Given the description of an element on the screen output the (x, y) to click on. 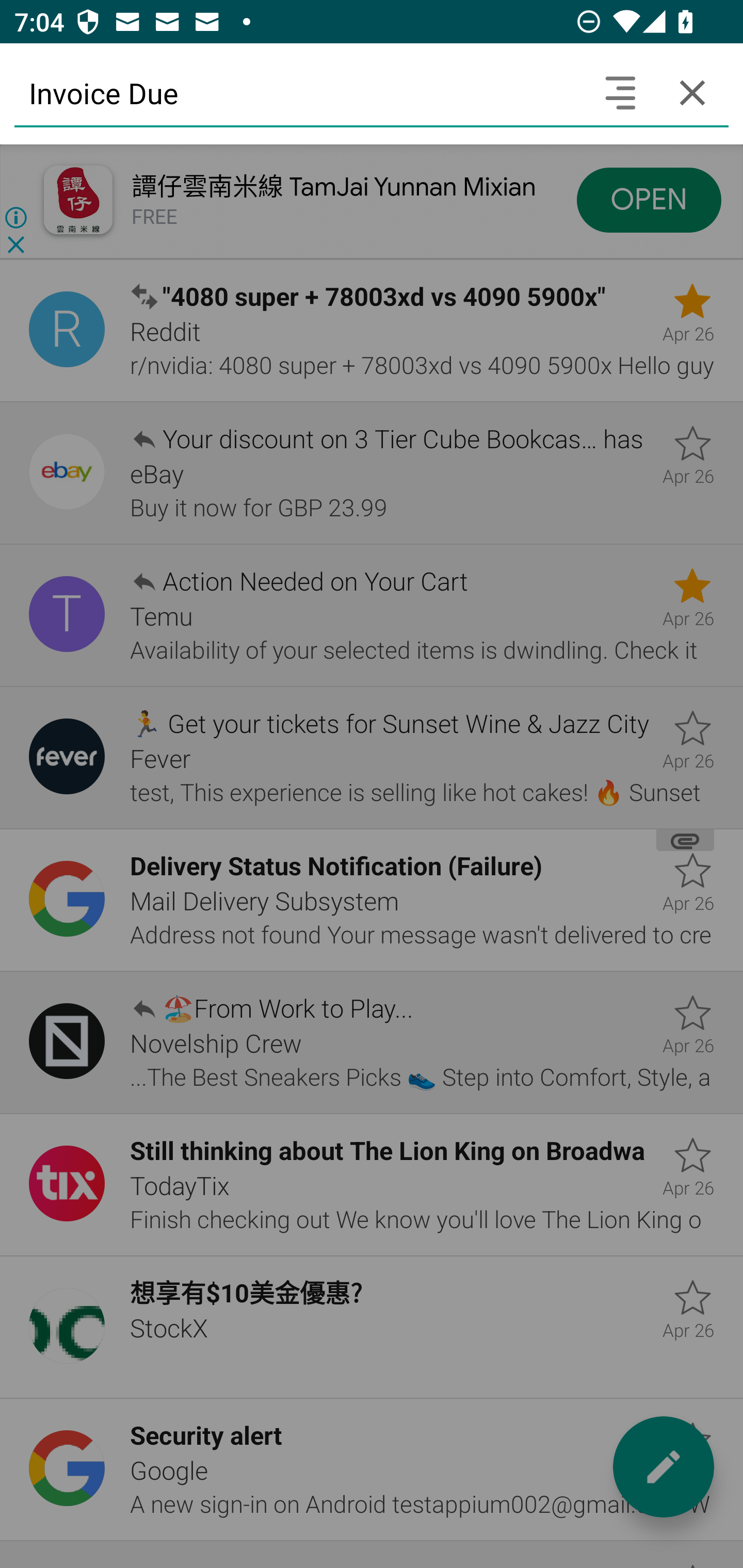
Invoice Due (298, 92)
Search headers and text (619, 92)
Cancel (692, 92)
